Given the description of an element on the screen output the (x, y) to click on. 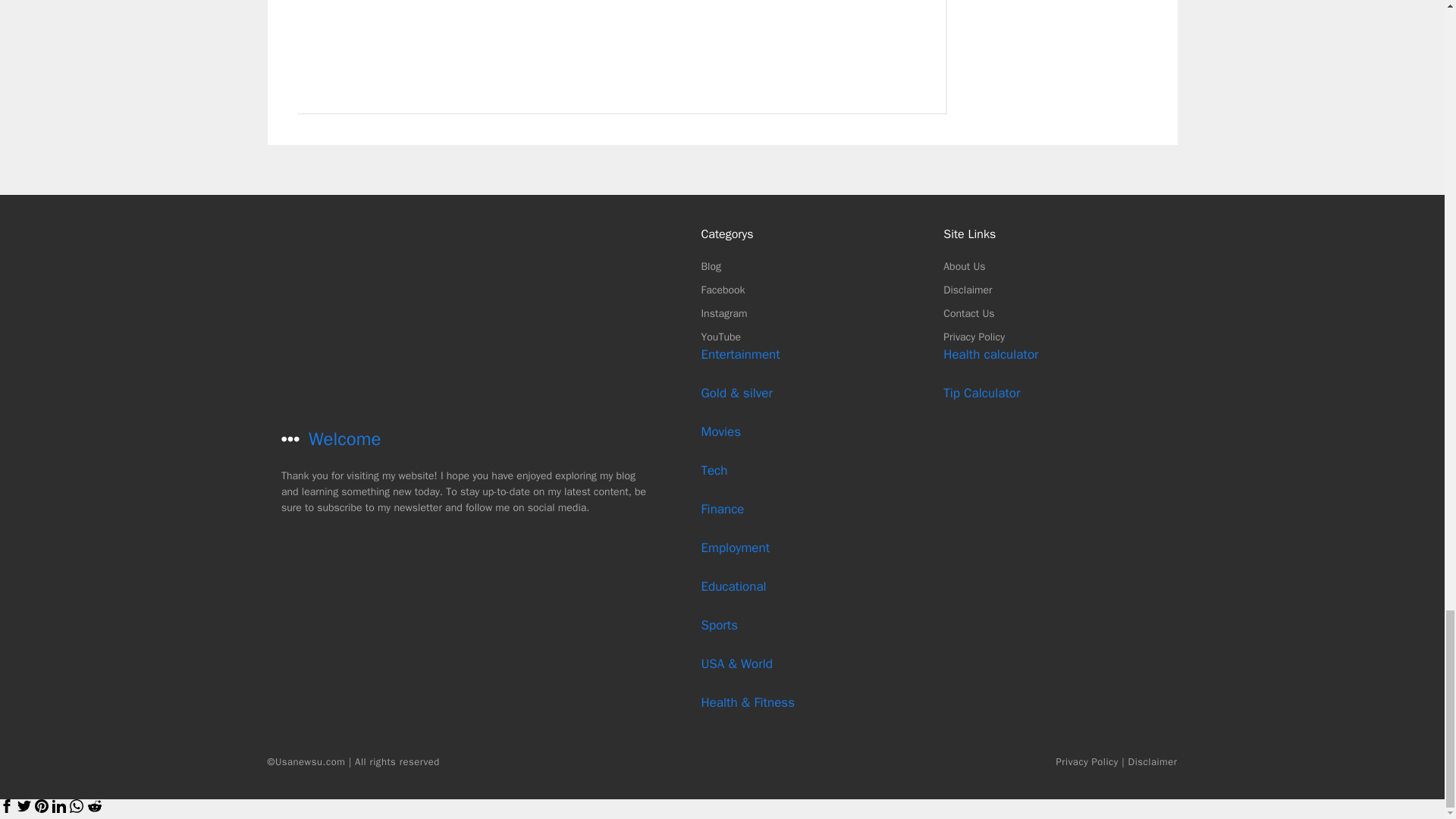
Comment Form (620, 53)
